Given the description of an element on the screen output the (x, y) to click on. 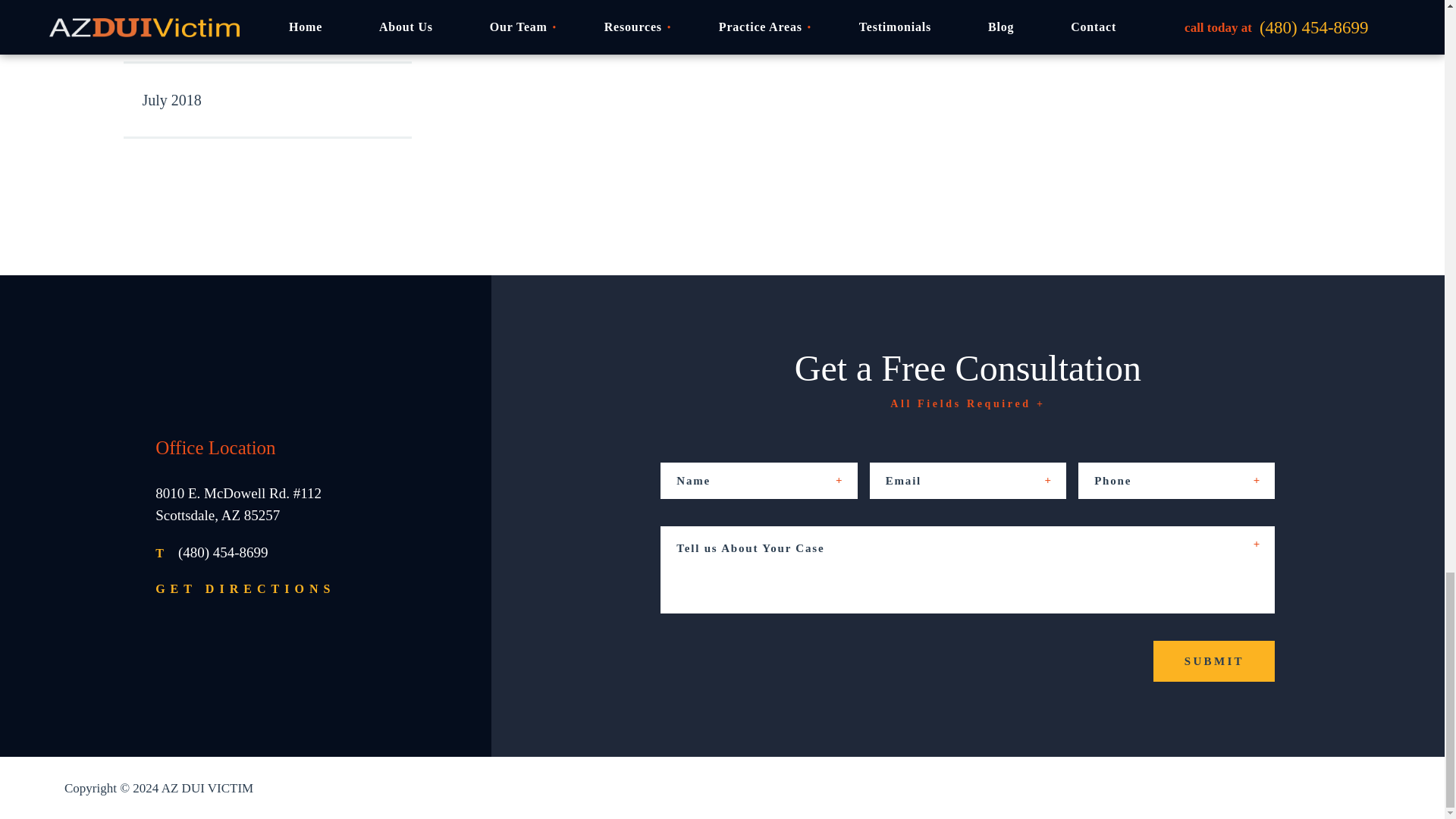
August 2018 (266, 31)
Submit (1214, 660)
